Given the description of an element on the screen output the (x, y) to click on. 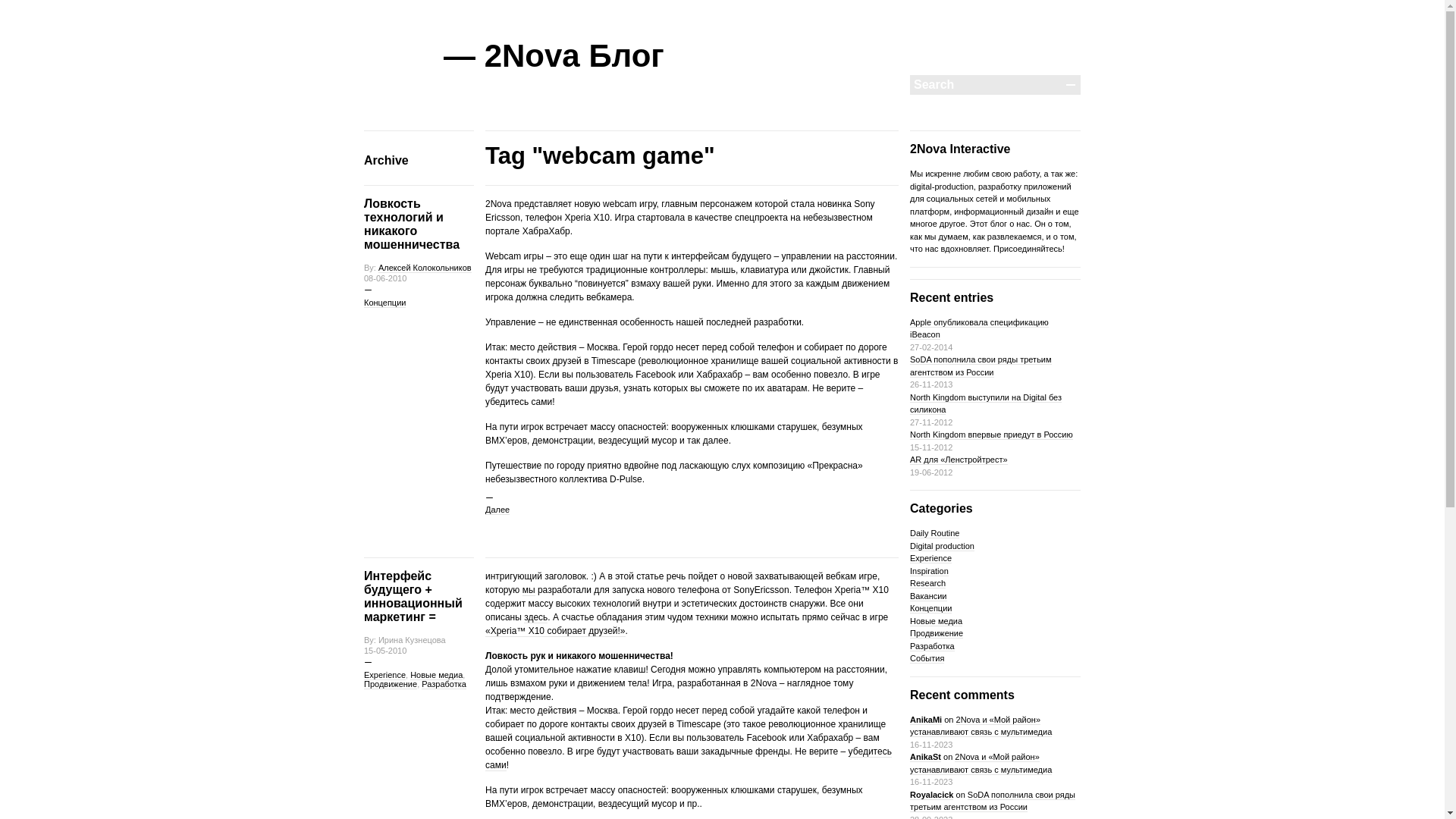
Inspiration Element type: text (929, 570)
Research Element type: text (927, 583)
AnikaMi Element type: text (925, 719)
Experience Element type: text (384, 675)
Digital production Element type: text (942, 546)
AnikaSt Element type: text (925, 757)
2Nova Element type: text (764, 683)
Experience Element type: text (930, 558)
Royalacick Element type: text (931, 795)
Daily Routine Element type: text (934, 533)
